Given the description of an element on the screen output the (x, y) to click on. 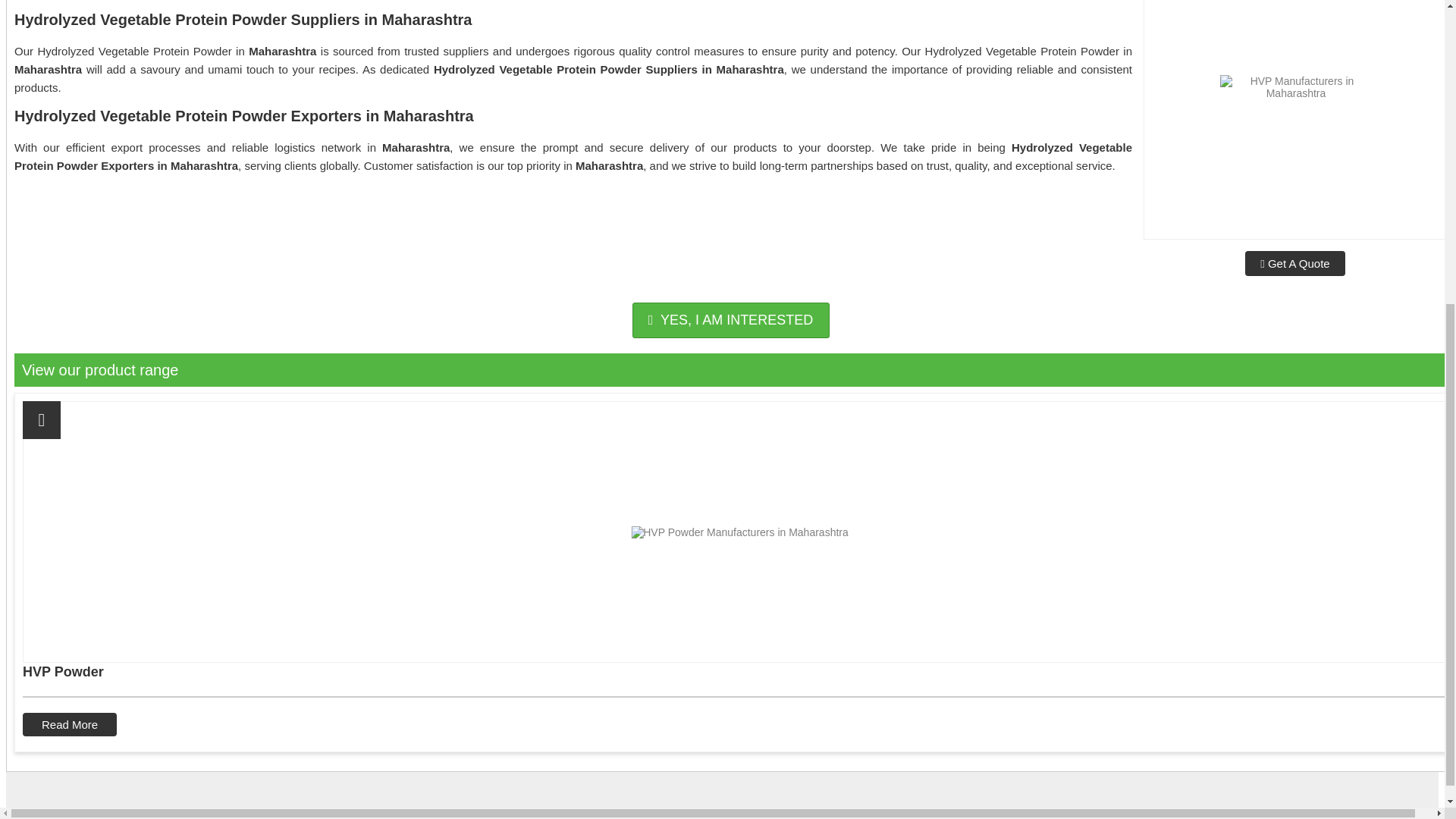
YES, I AM INTERESTED (730, 320)
HVP Powder (738, 671)
Get A Quote (1293, 263)
Read More (69, 724)
 HVP Manufacturers in Maharashtra (1294, 119)
